Given the description of an element on the screen output the (x, y) to click on. 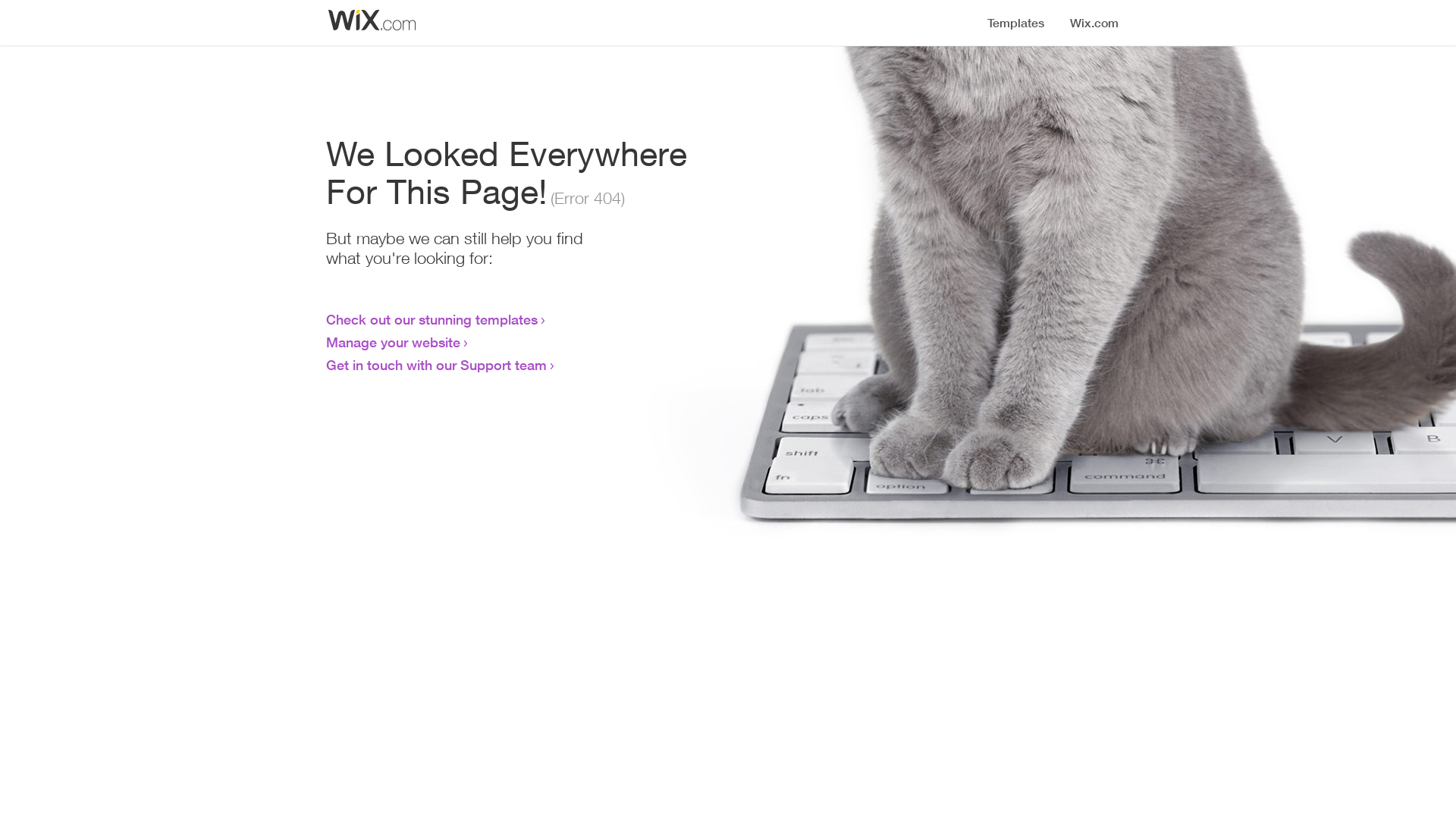
Check out our stunning templates Element type: text (431, 318)
Manage your website Element type: text (393, 341)
Get in touch with our Support team Element type: text (436, 364)
